Given the description of an element on the screen output the (x, y) to click on. 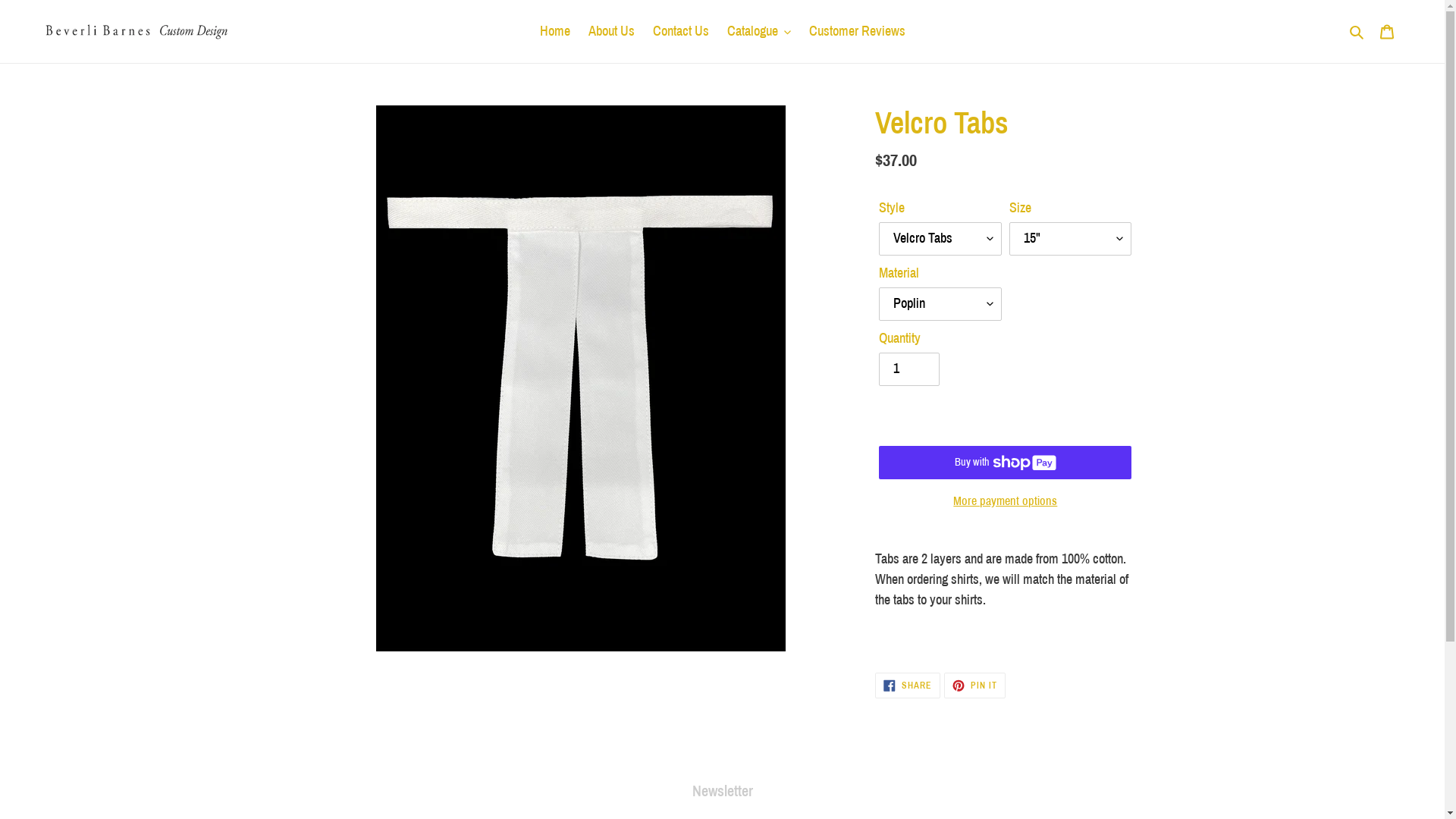
Home Element type: text (554, 30)
SHARE
SHARE ON FACEBOOK Element type: text (907, 685)
ADD TO CART Element type: text (1004, 421)
Search Element type: text (1357, 31)
Cart Element type: text (1386, 31)
Catalogue Element type: text (757, 30)
Contact Us Element type: text (679, 30)
Customer Reviews Element type: text (856, 30)
More payment options Element type: text (1004, 501)
PIN IT
PIN ON PINTEREST Element type: text (974, 685)
About Us Element type: text (611, 30)
